Given the description of an element on the screen output the (x, y) to click on. 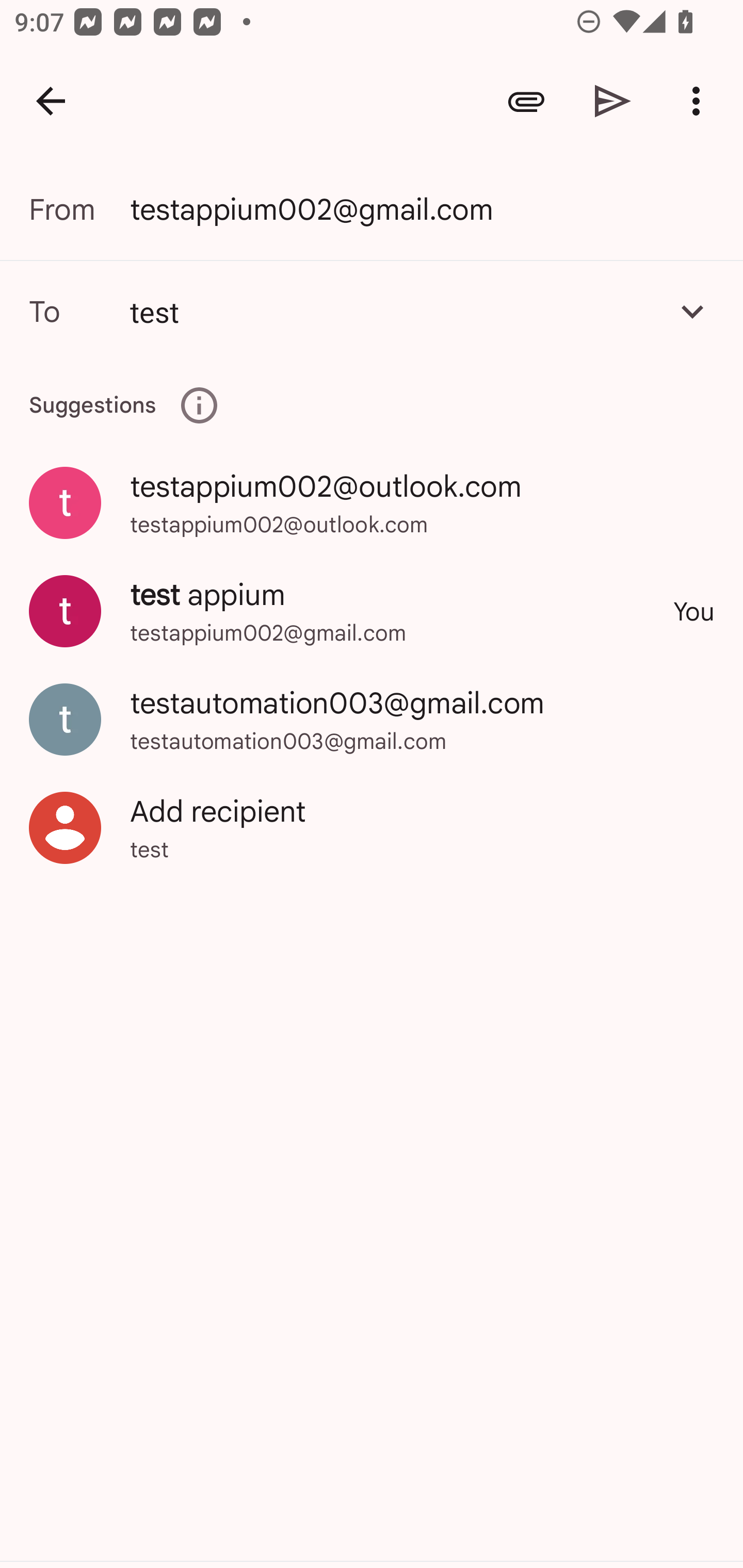
Navigate up (50, 101)
Attach file (525, 101)
Send (612, 101)
More options (699, 101)
From (79, 209)
Add Cc/Bcc (692, 311)
test (371, 311)
test (393, 311)
How suggestions work (199, 405)
test appium testappium002@gmail.com You (371, 610)
testautomation003@gmail.com (371, 718)
Add recipient test (371, 827)
